Given the description of an element on the screen output the (x, y) to click on. 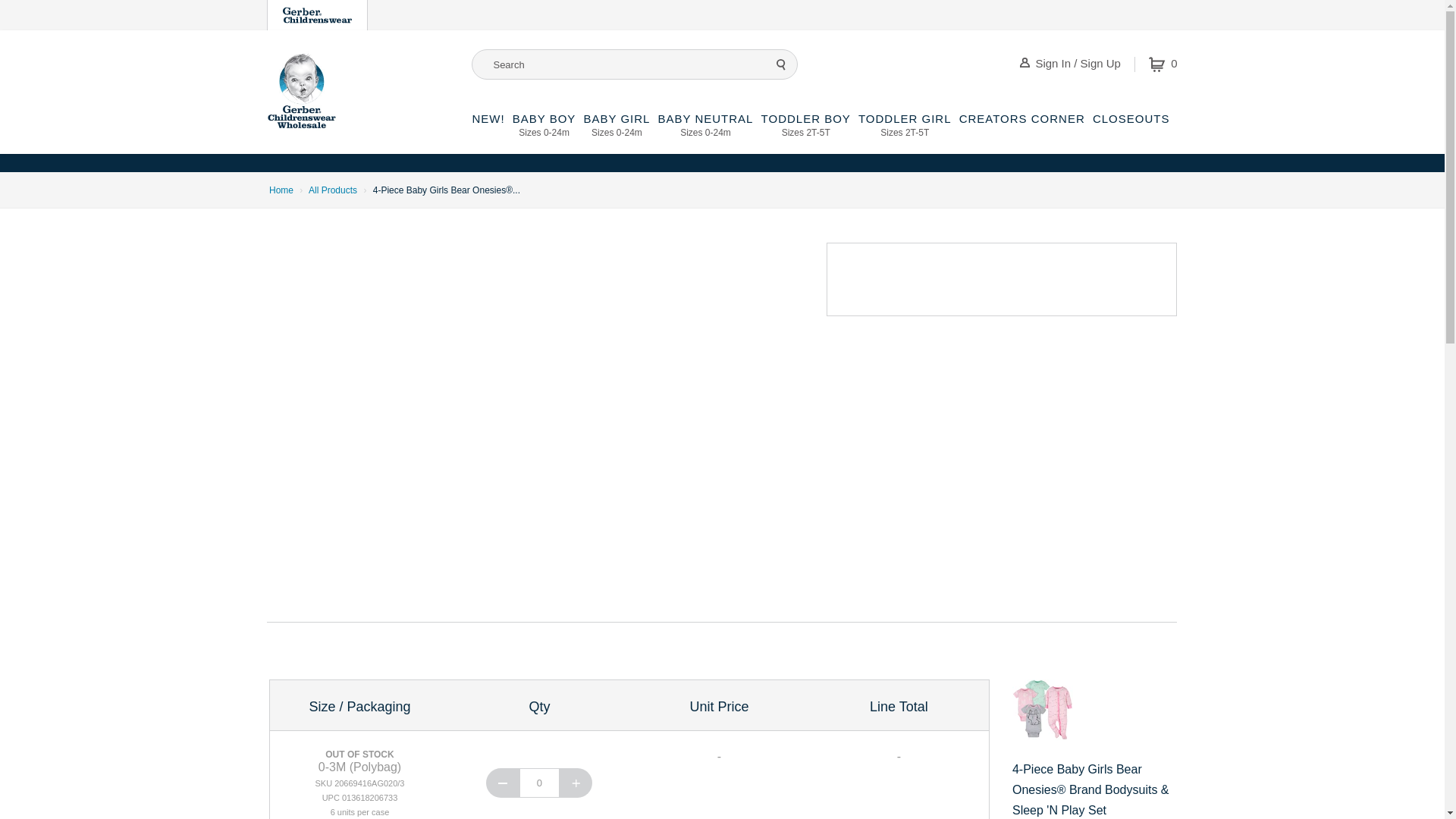
Gerber Childrenswear (316, 15)
0 (539, 782)
Home (281, 190)
Search (1162, 64)
